Given the description of an element on the screen output the (x, y) to click on. 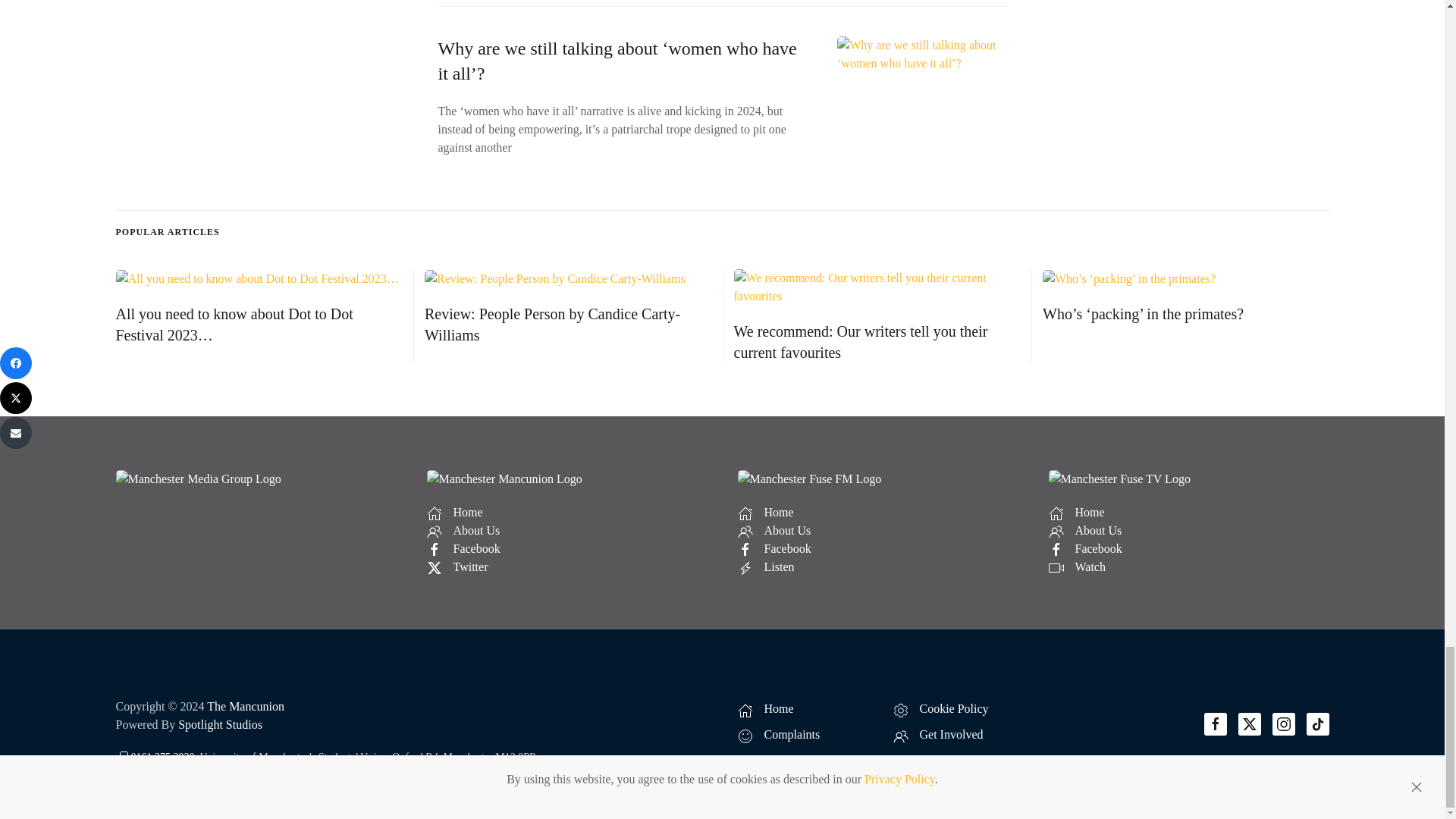
The Mancunion (244, 706)
Web Design by Spotlight Studios (219, 724)
